Given the description of an element on the screen output the (x, y) to click on. 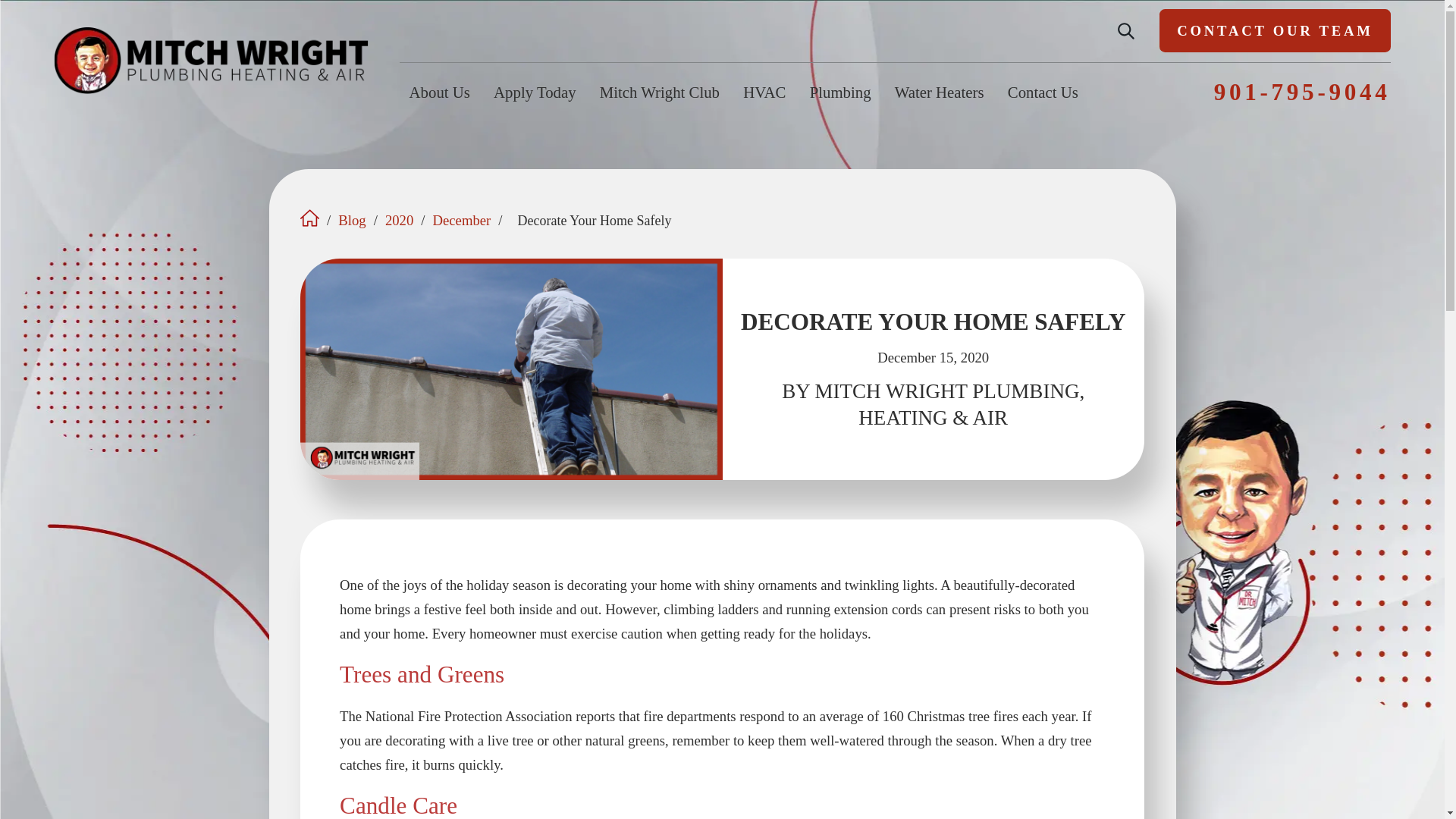
HVAC (764, 91)
Plumbing (839, 91)
Mitch Wright Club (659, 91)
901-795-9044 (1302, 92)
Apply Today (534, 91)
Blog (351, 221)
Water Heaters (939, 91)
December (461, 221)
2020 (399, 221)
CONTACT OUR TEAM (1274, 30)
Contact Us (1042, 91)
About Us (439, 91)
